Given the description of an element on the screen output the (x, y) to click on. 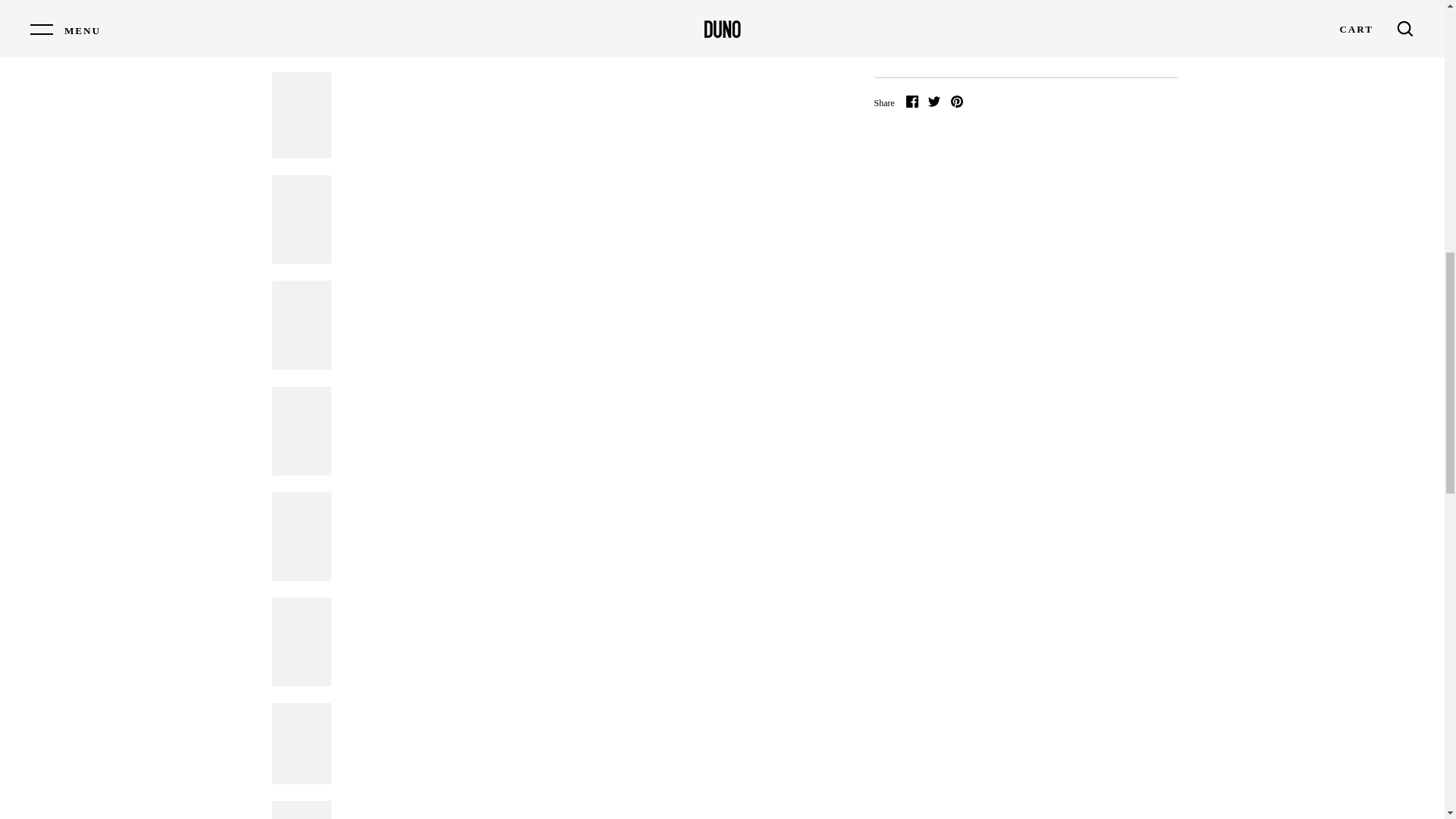
Facebook (911, 101)
Pinterest (956, 101)
Twitter (934, 101)
